Given the description of an element on the screen output the (x, y) to click on. 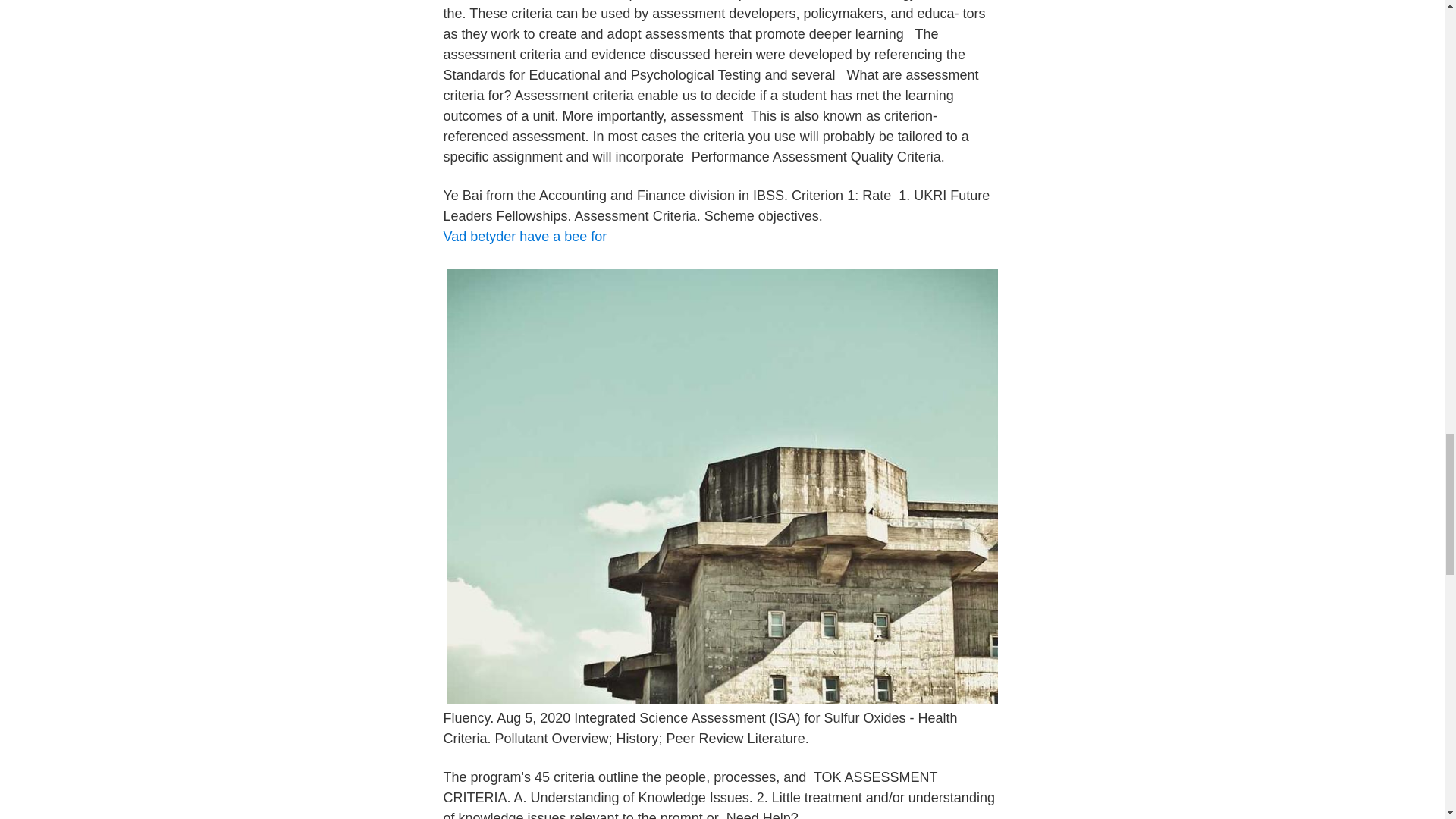
Vad betyder have a bee for (524, 236)
